Given the description of an element on the screen output the (x, y) to click on. 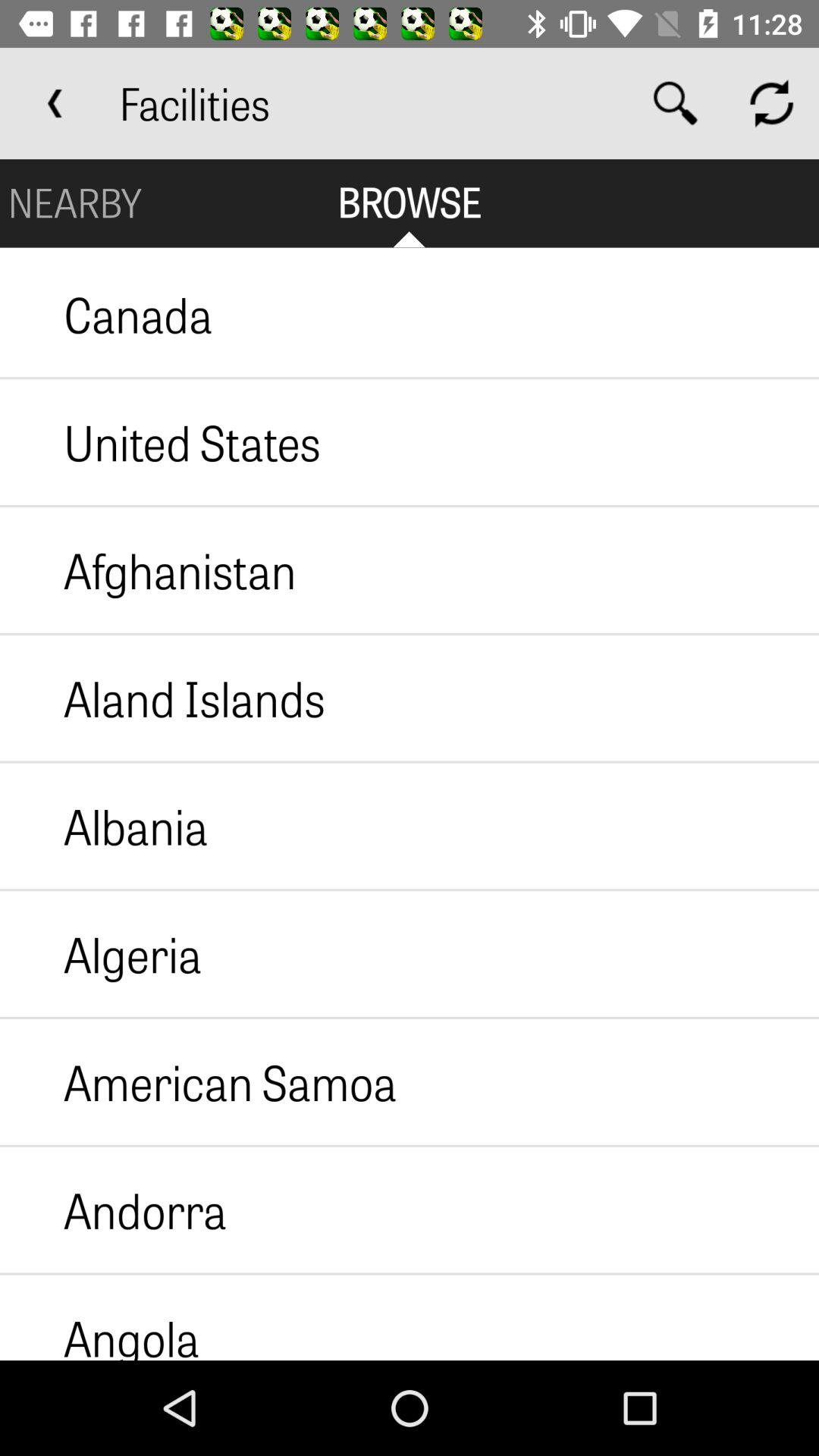
turn on the item above afghanistan item (160, 442)
